Given the description of an element on the screen output the (x, y) to click on. 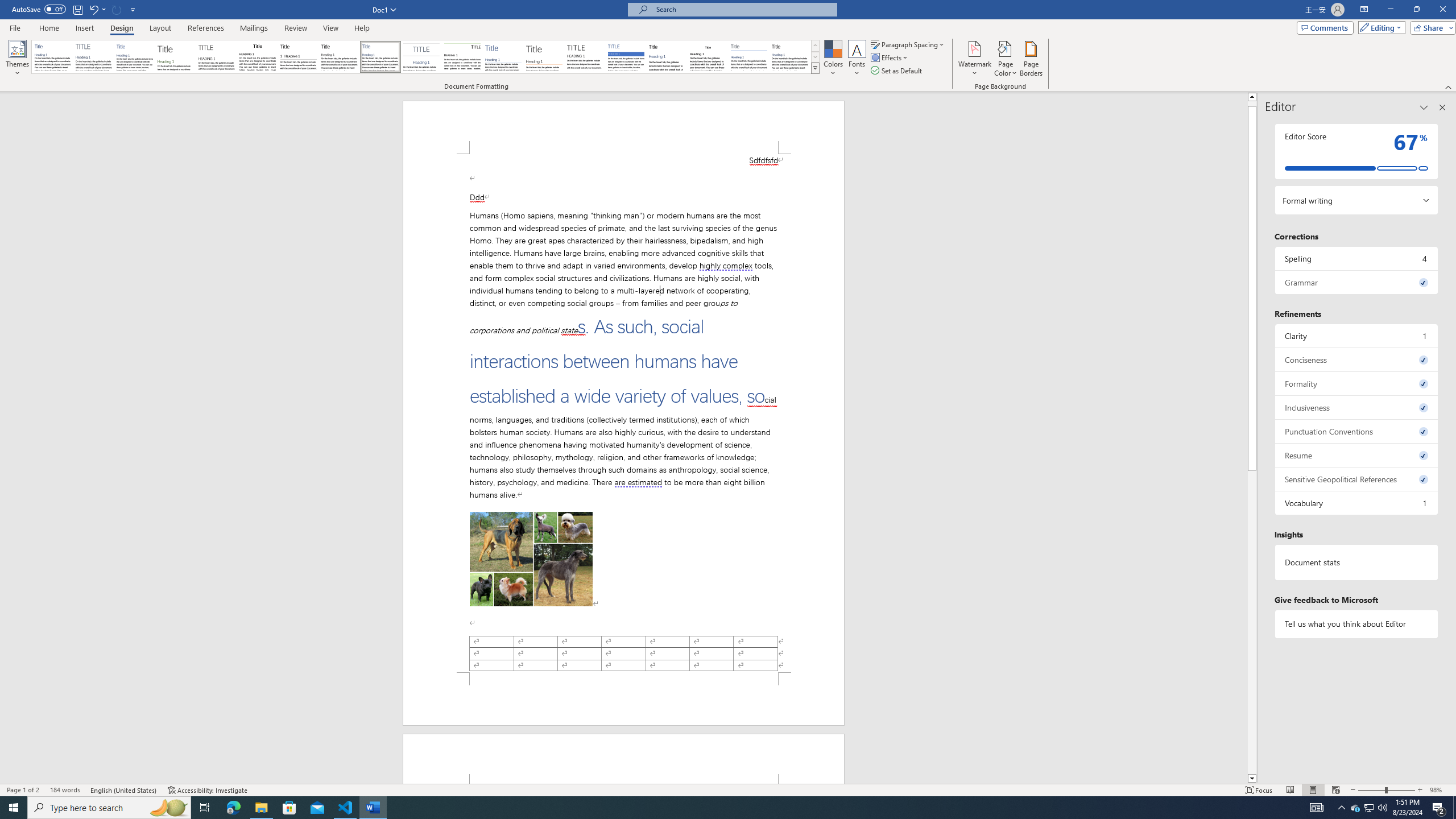
Casual (379, 56)
Undo Outline Move Up (92, 9)
Set as Default (897, 69)
Basic (Simple) (135, 56)
Page 1 content (623, 412)
Tell us what you think about Editor (1356, 624)
